Given the description of an element on the screen output the (x, y) to click on. 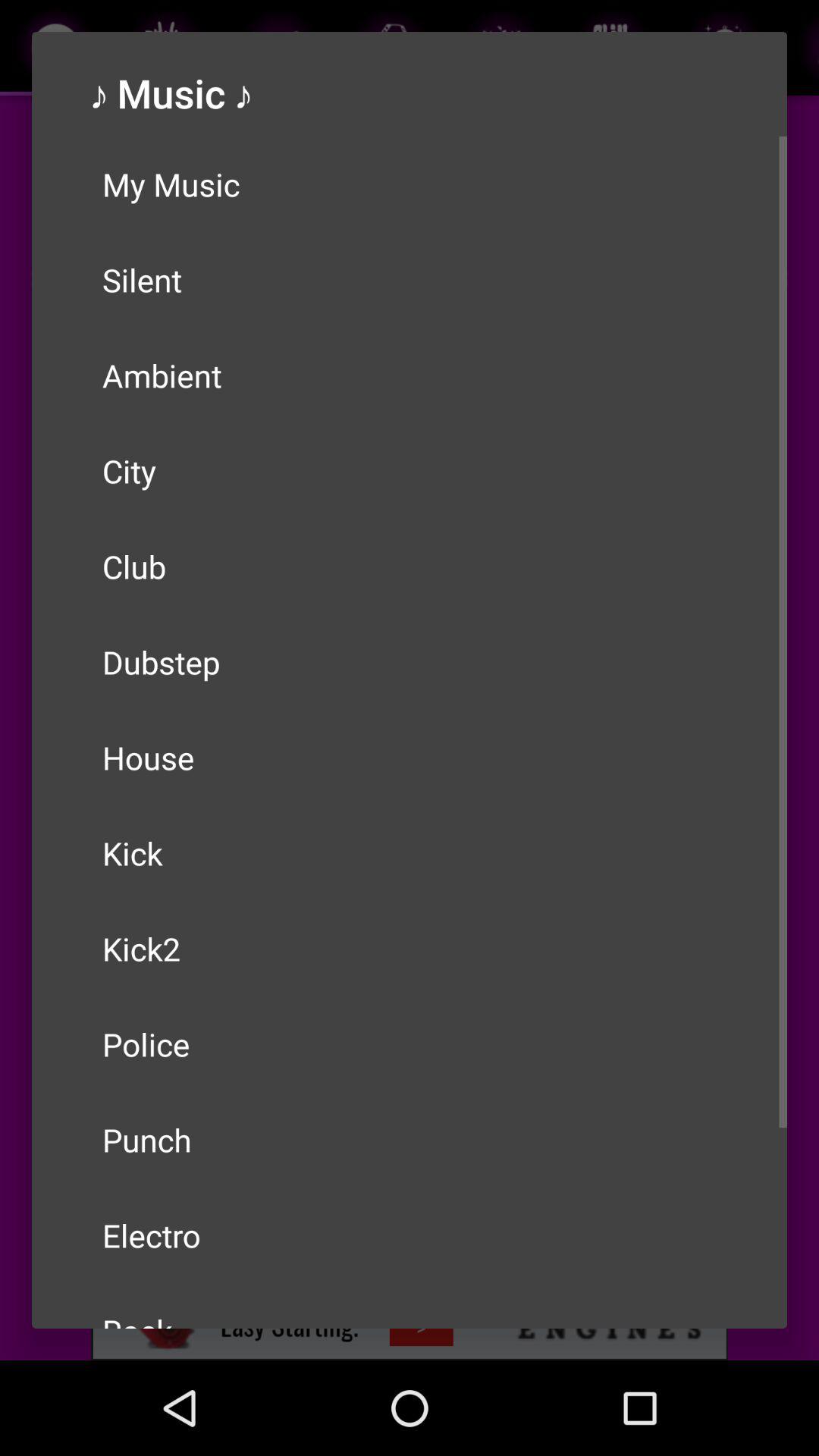
click item below the 		punch icon (409, 1235)
